Given the description of an element on the screen output the (x, y) to click on. 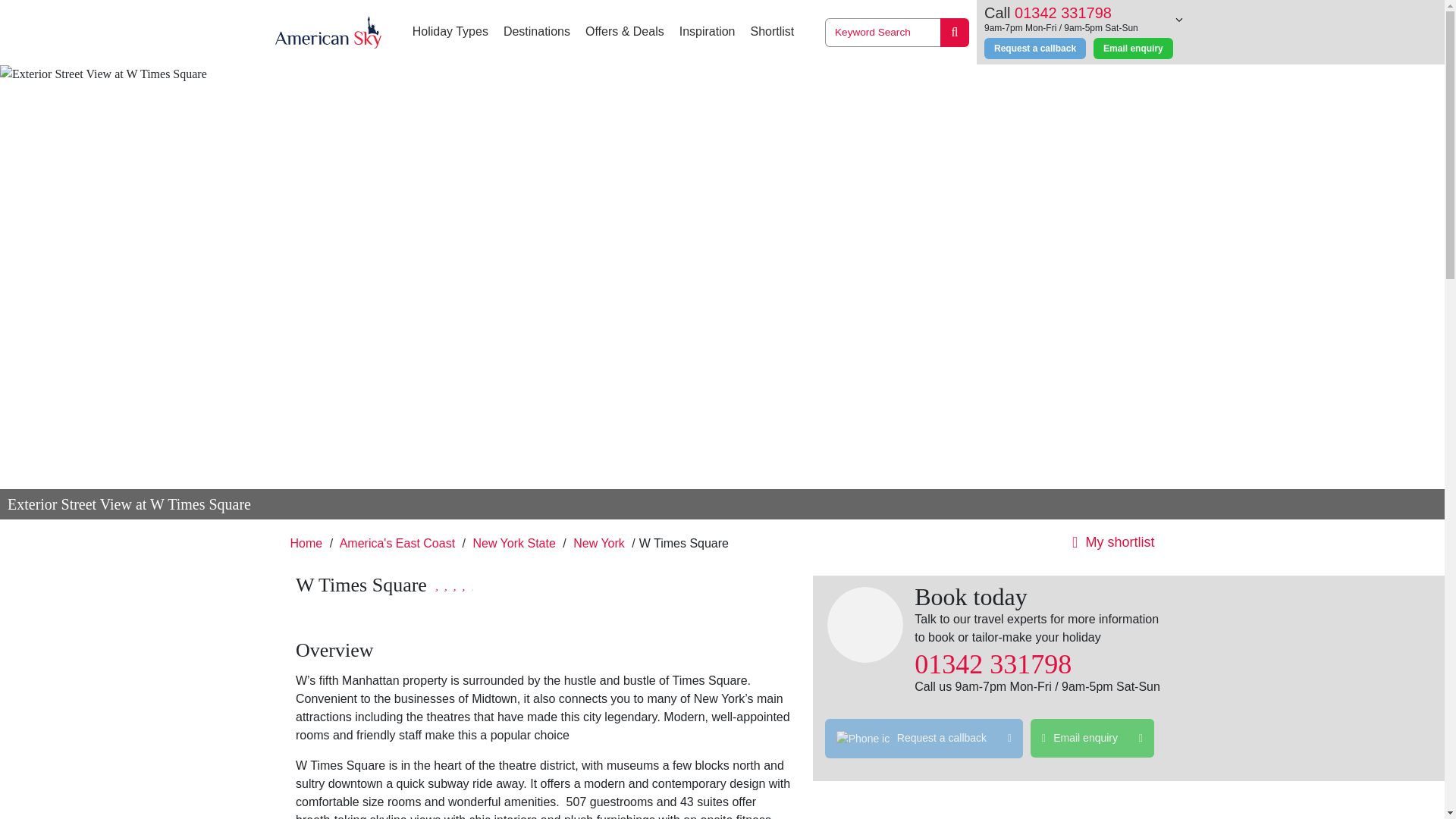
American Sky (328, 31)
Holiday Types (450, 32)
Destinations (537, 32)
